Given the description of an element on the screen output the (x, y) to click on. 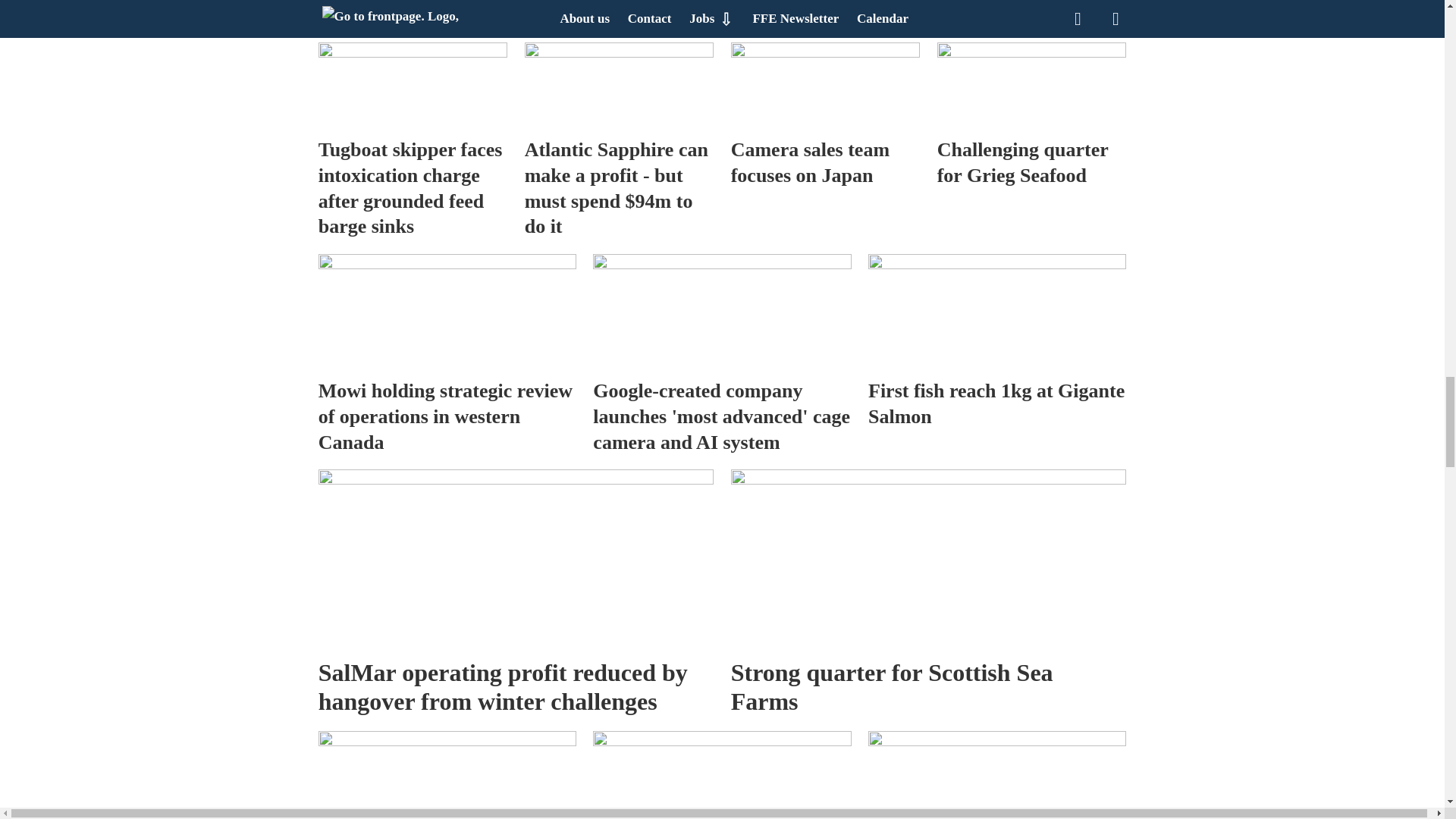
Camera sales team focuses on Japan (825, 84)
Challenging quarter for Grieg Seafood (1031, 84)
